Given the description of an element on the screen output the (x, y) to click on. 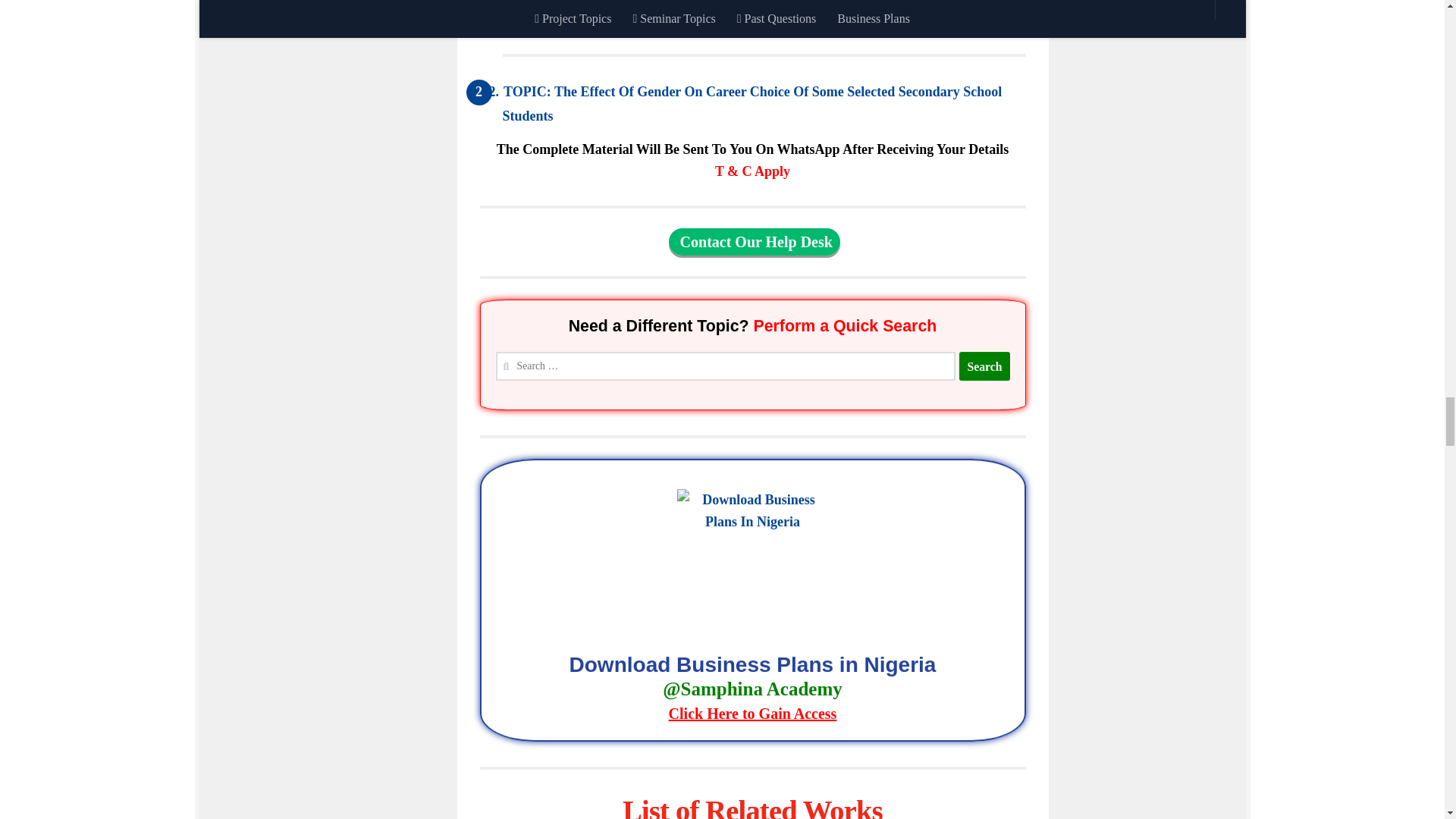
Samphina Terms and Conditions (752, 171)
Search (984, 367)
Contact Our Help Desk (754, 240)
Download Business Plans in Nigeria (752, 691)
Search (984, 367)
Contact Information Page (754, 240)
Search (984, 366)
